Given the description of an element on the screen output the (x, y) to click on. 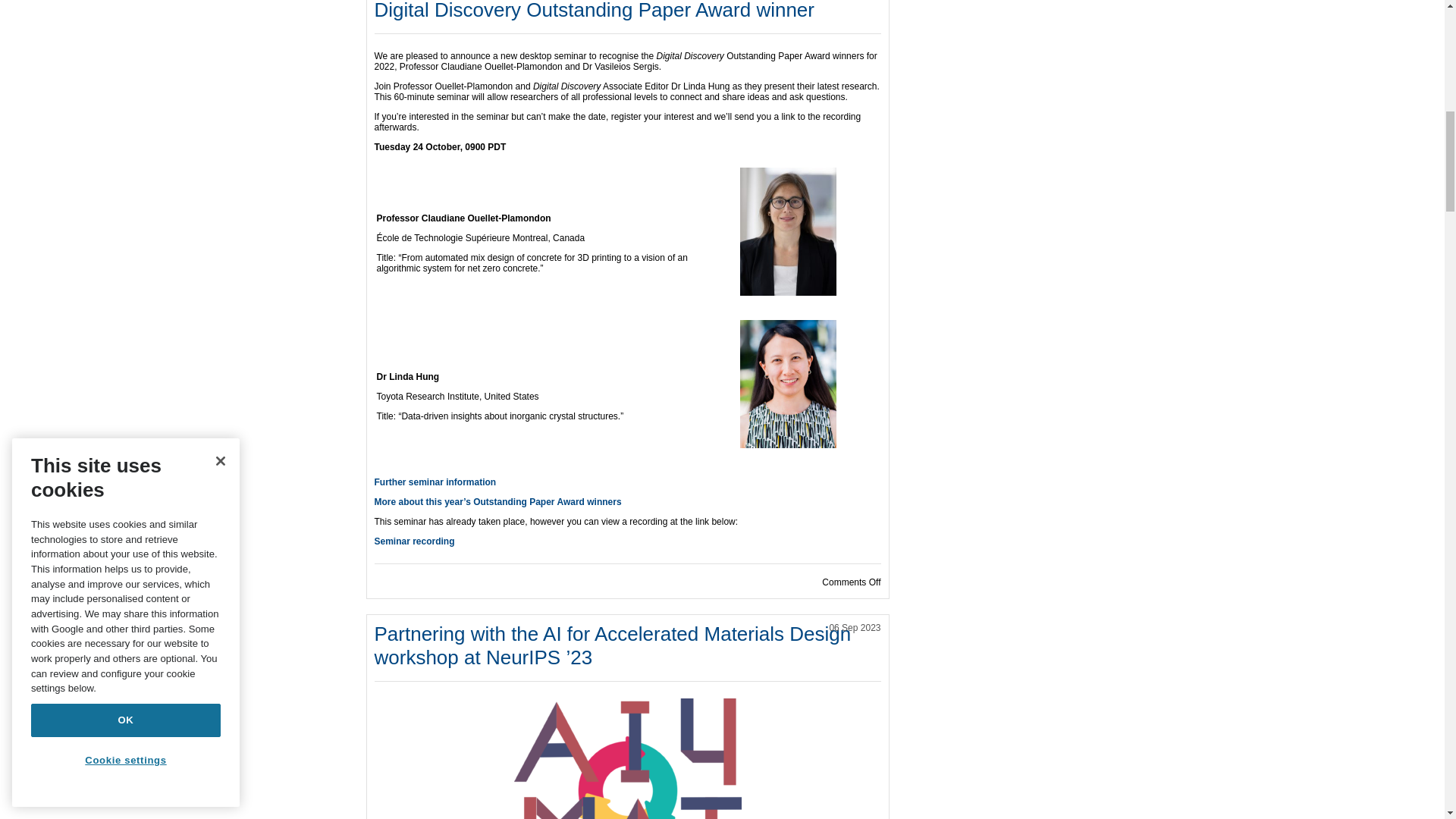
Seminar recording (414, 541)
Further seminar information (435, 481)
